Given the description of an element on the screen output the (x, y) to click on. 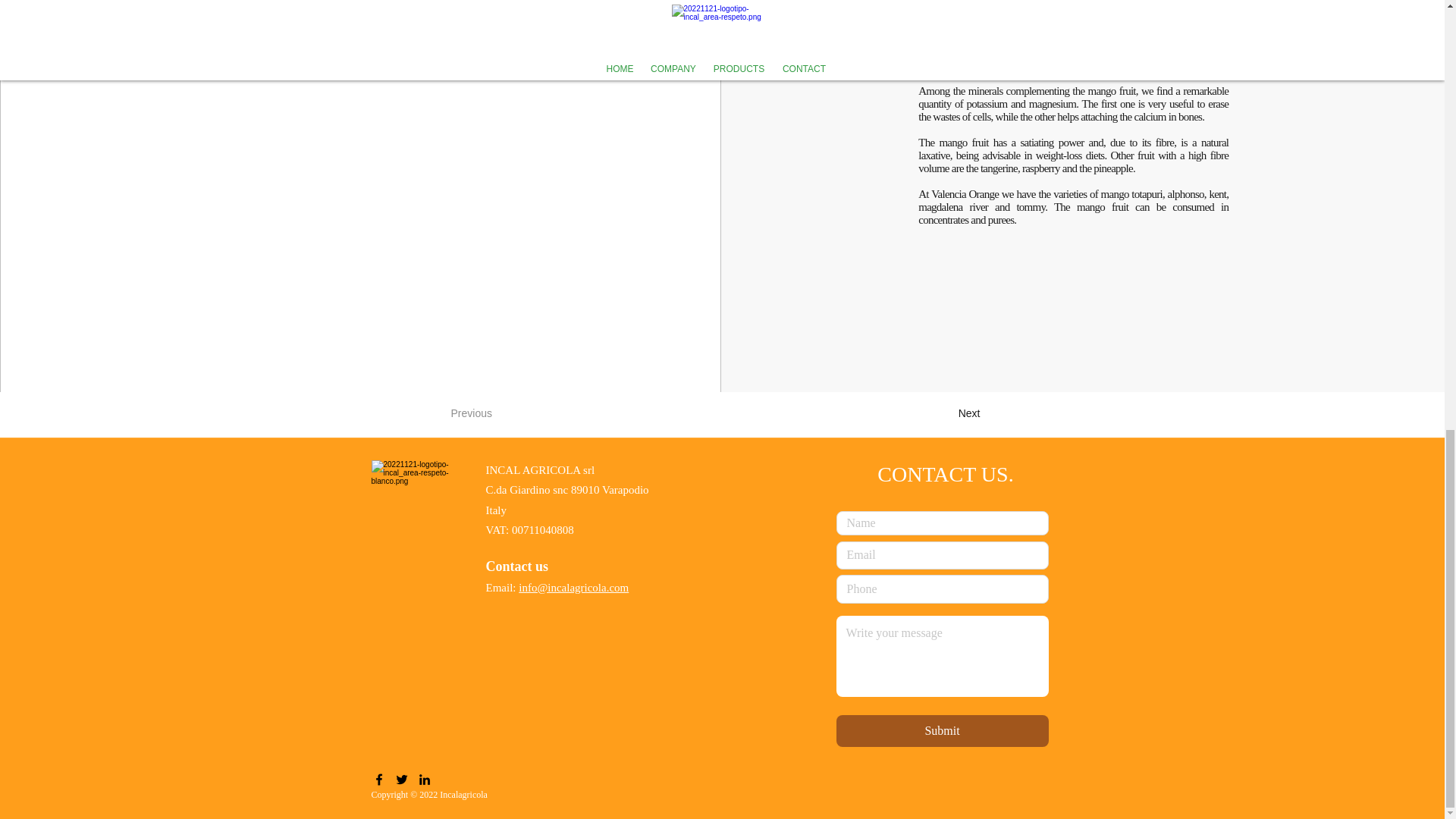
Previous (499, 413)
Next (941, 413)
Submit (941, 730)
